Given the description of an element on the screen output the (x, y) to click on. 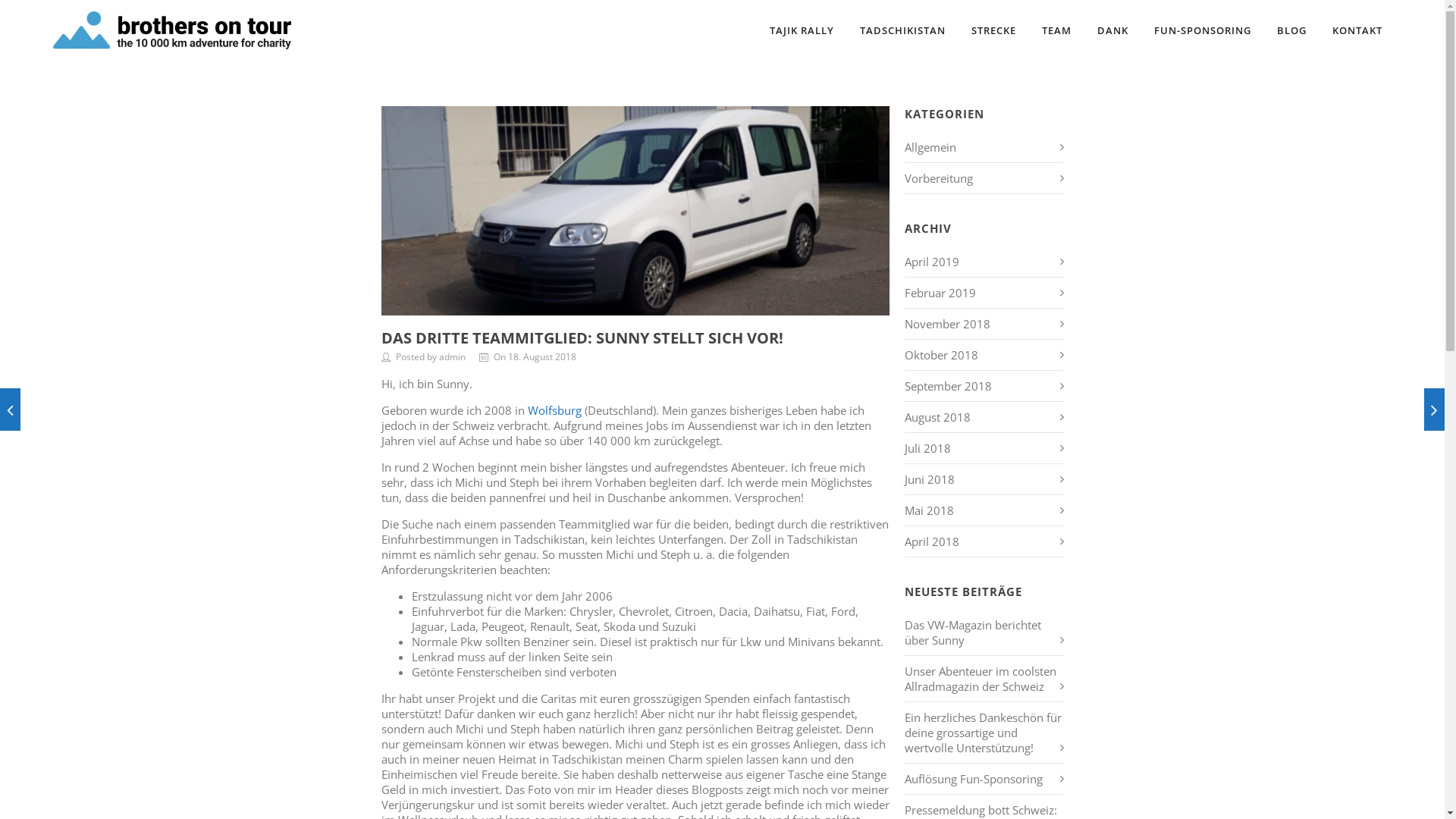
Wolfsburg Element type: text (554, 409)
Vorbereitung Element type: text (937, 177)
STRECKE Element type: text (993, 29)
Unser Abenteuer im coolsten Allradmagazin der Schweiz Element type: text (979, 678)
Allgemein Element type: text (929, 146)
Juli 2018 Element type: text (926, 447)
KONTAKT Element type: text (1357, 29)
Februar 2019 Element type: text (939, 292)
BLOG Element type: text (1291, 29)
TAJIK RALLY Element type: text (801, 29)
TADSCHIKISTAN Element type: text (902, 29)
DANK Element type: text (1112, 29)
April 2018 Element type: text (930, 541)
Oktober 2018 Element type: text (940, 354)
Juni 2018 Element type: text (928, 478)
Mai 2018 Element type: text (928, 509)
TEAM Element type: text (1056, 29)
FUN-SPONSORING Element type: text (1202, 29)
April 2019 Element type: text (930, 261)
August 2018 Element type: text (936, 416)
DAS DRITTE TEAMMITGLIED: SUNNY STELLT SICH VOR! Element type: text (581, 337)
November 2018 Element type: text (946, 323)
September 2018 Element type: text (947, 385)
